Given the description of an element on the screen output the (x, y) to click on. 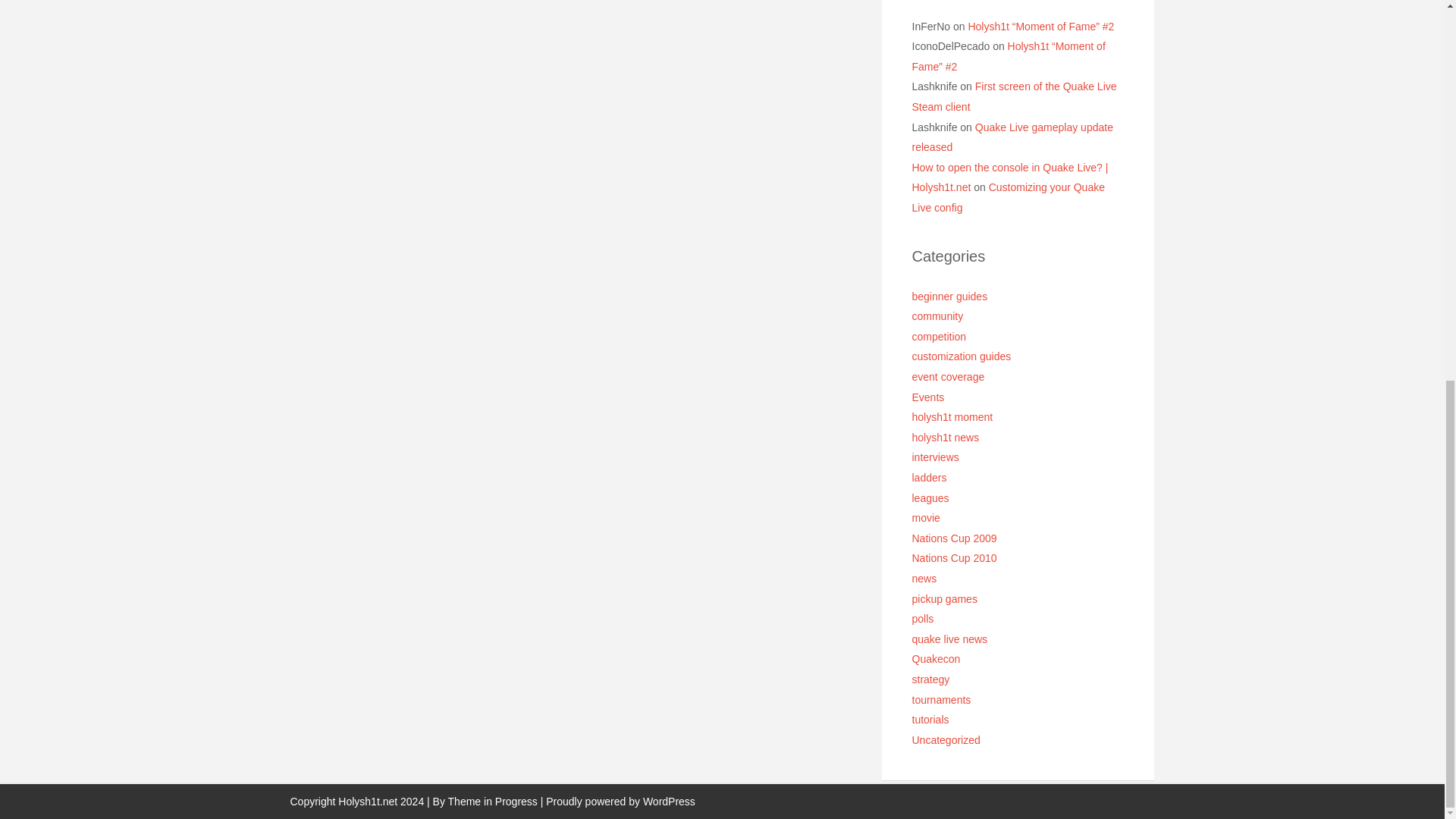
A Semantic Personal Publishing Platform (620, 801)
